Given the description of an element on the screen output the (x, y) to click on. 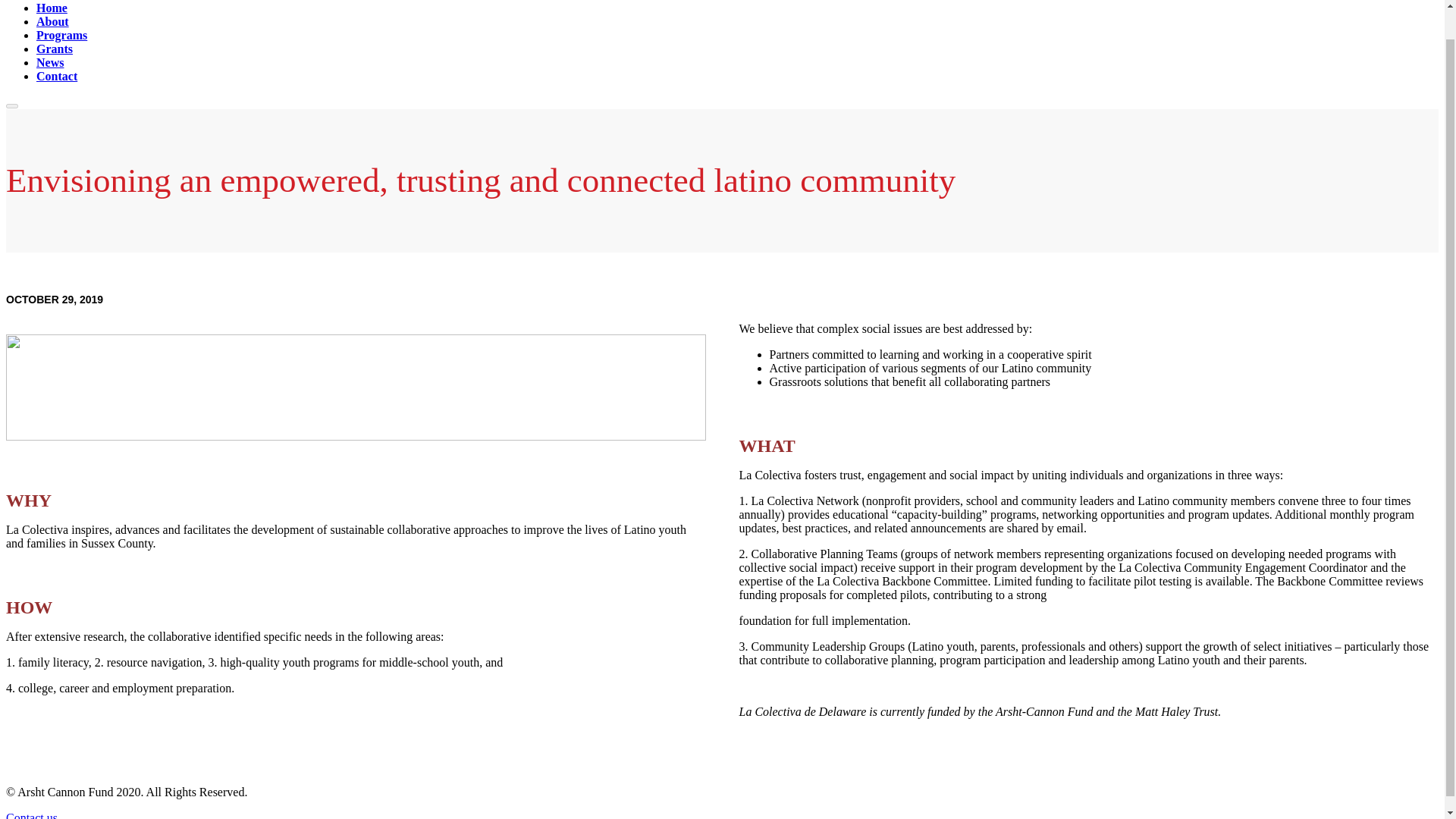
Contact (56, 75)
About (52, 21)
News (50, 62)
Home (51, 7)
Grants (54, 48)
Programs (61, 34)
